Given the description of an element on the screen output the (x, y) to click on. 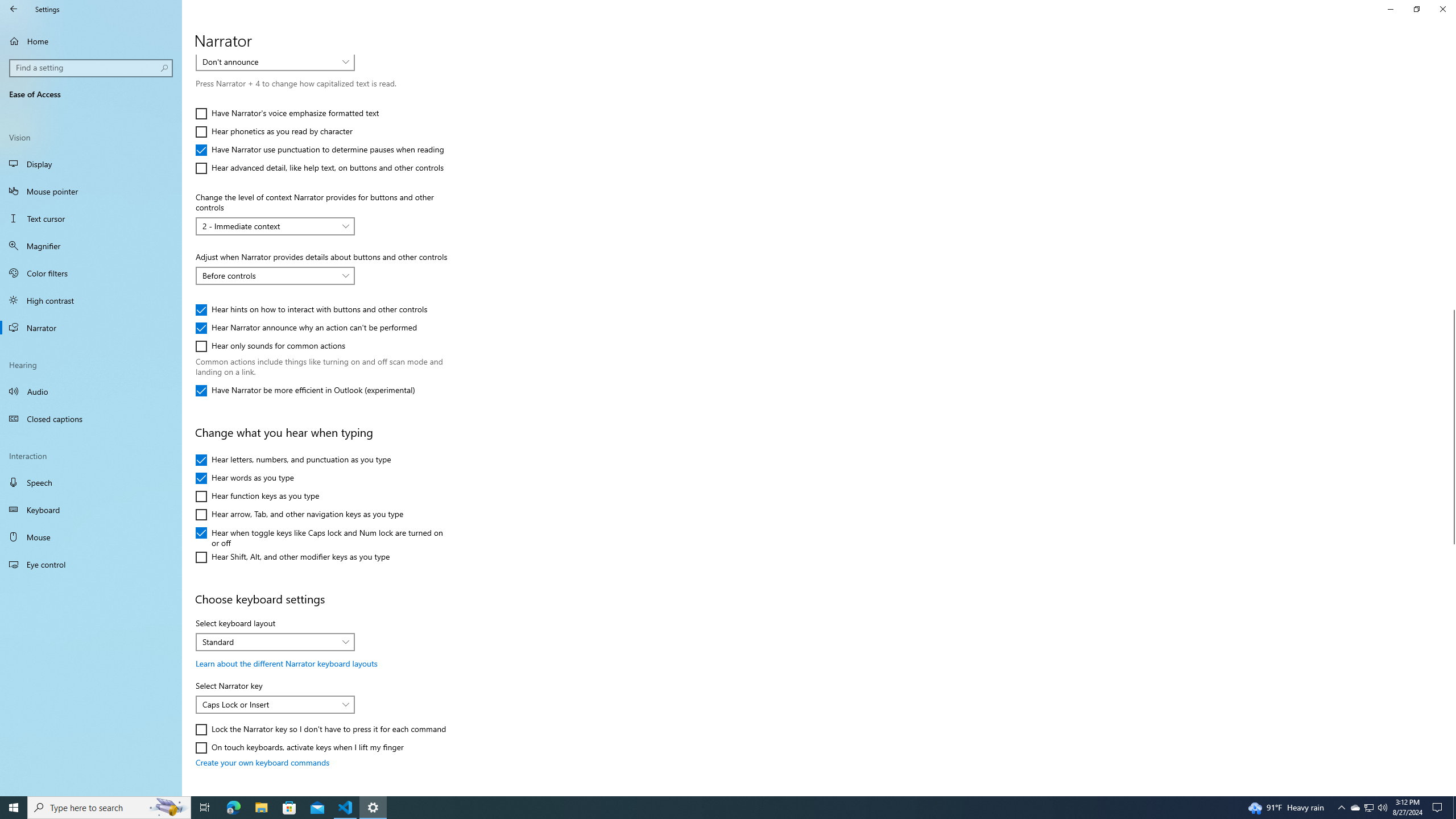
Hear letters, numbers, and punctuation as you type (293, 460)
High contrast (91, 299)
2 - Immediate context (269, 225)
Mouse (91, 536)
Mouse pointer (91, 190)
Standard (269, 641)
Audio (91, 390)
Vertical Large Decrease (1451, 186)
